Given the description of an element on the screen output the (x, y) to click on. 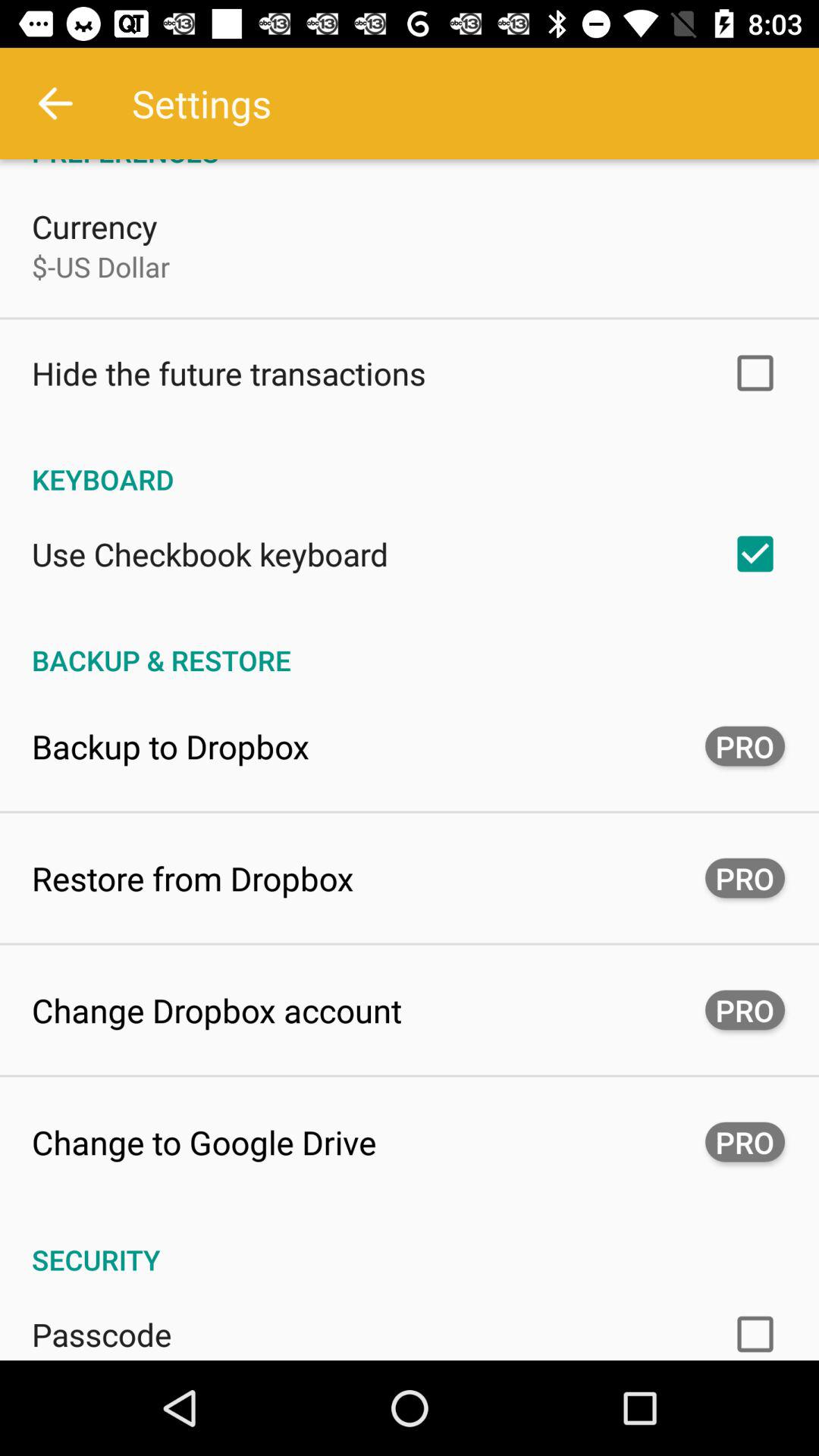
open icon above restore from dropbox icon (170, 746)
